Given the description of an element on the screen output the (x, y) to click on. 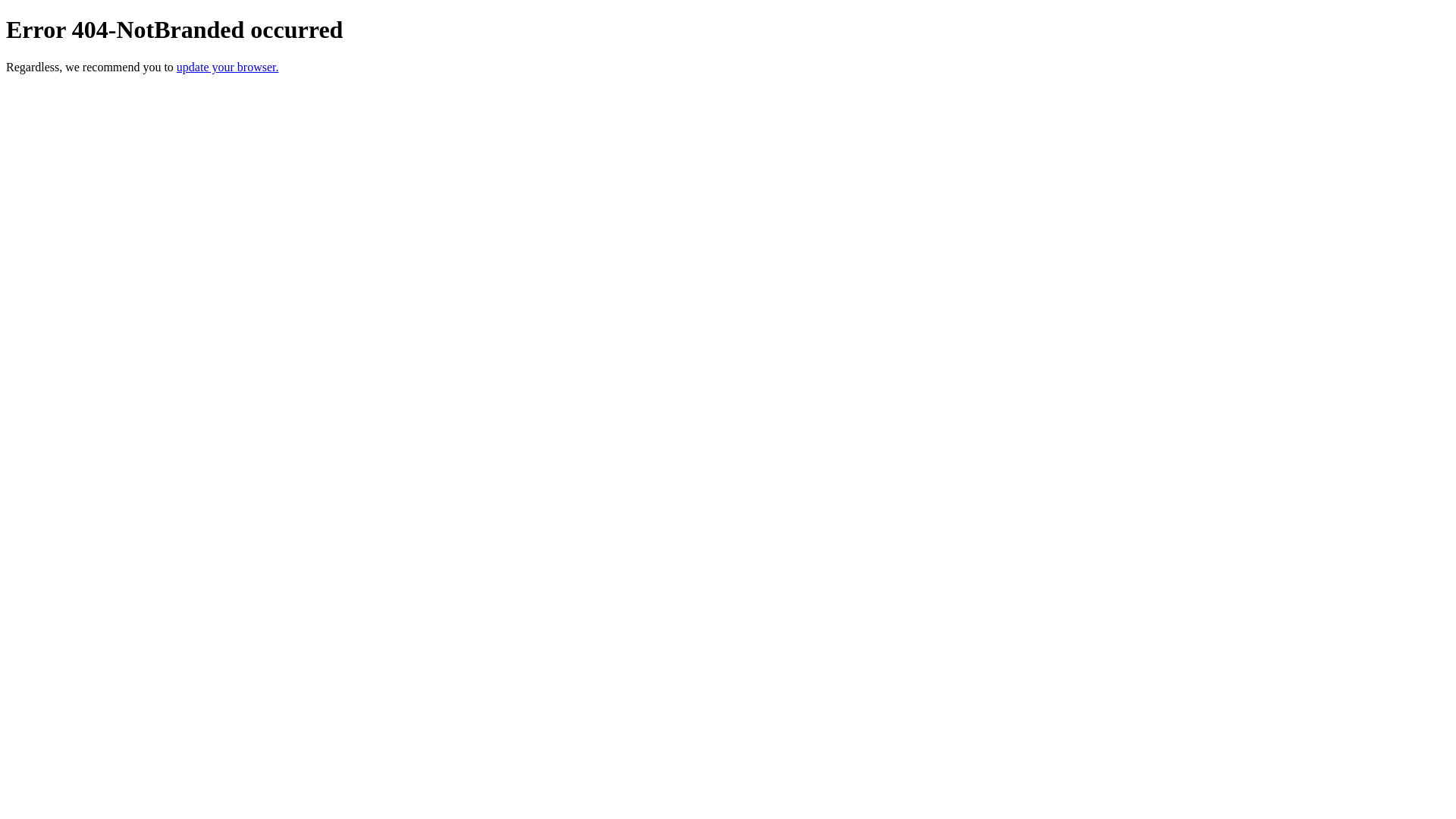
update your browser. Element type: text (227, 66)
